Given the description of an element on the screen output the (x, y) to click on. 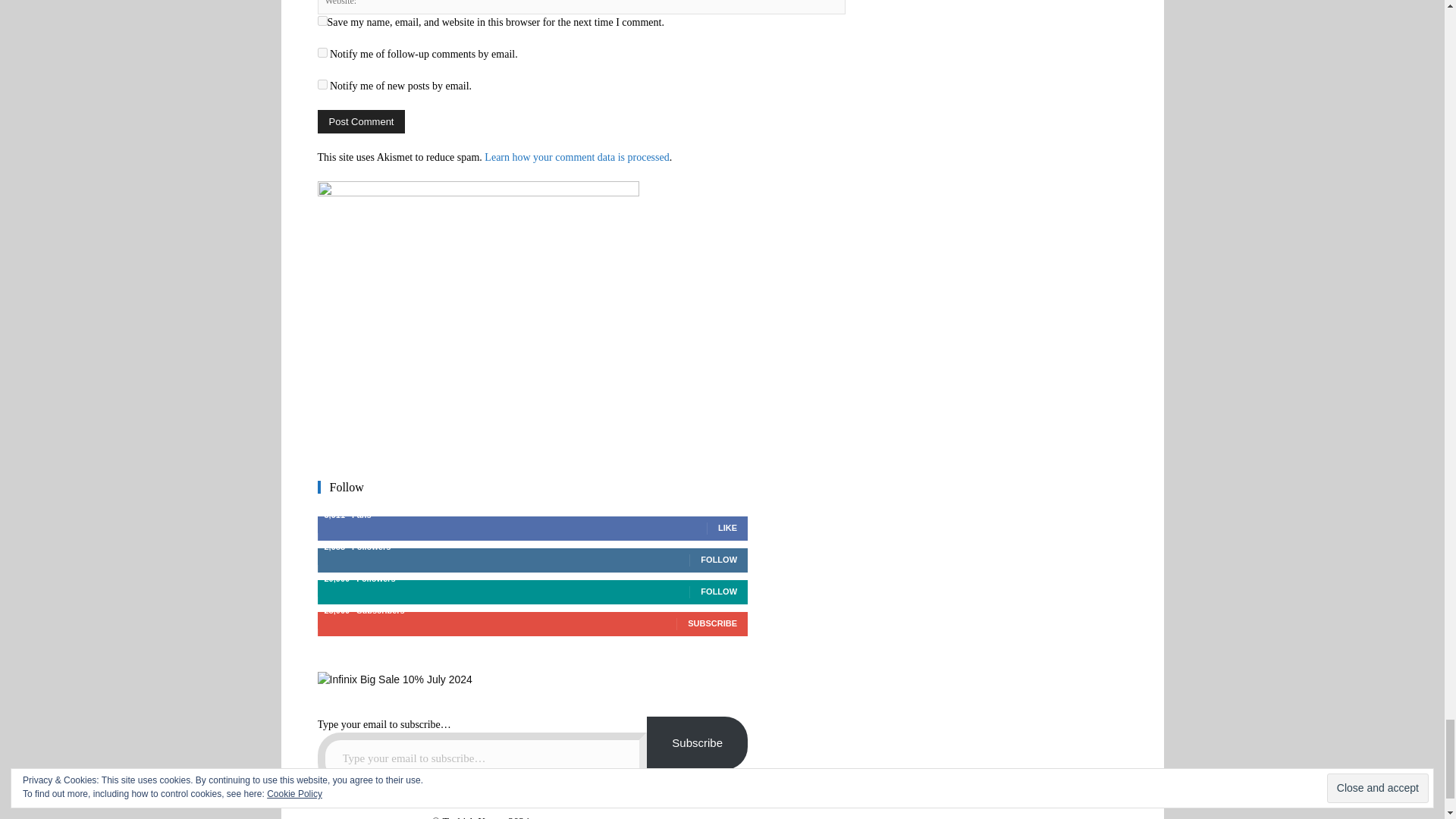
subscribe (321, 52)
yes (321, 20)
Post Comment (360, 121)
subscribe (321, 84)
